Given the description of an element on the screen output the (x, y) to click on. 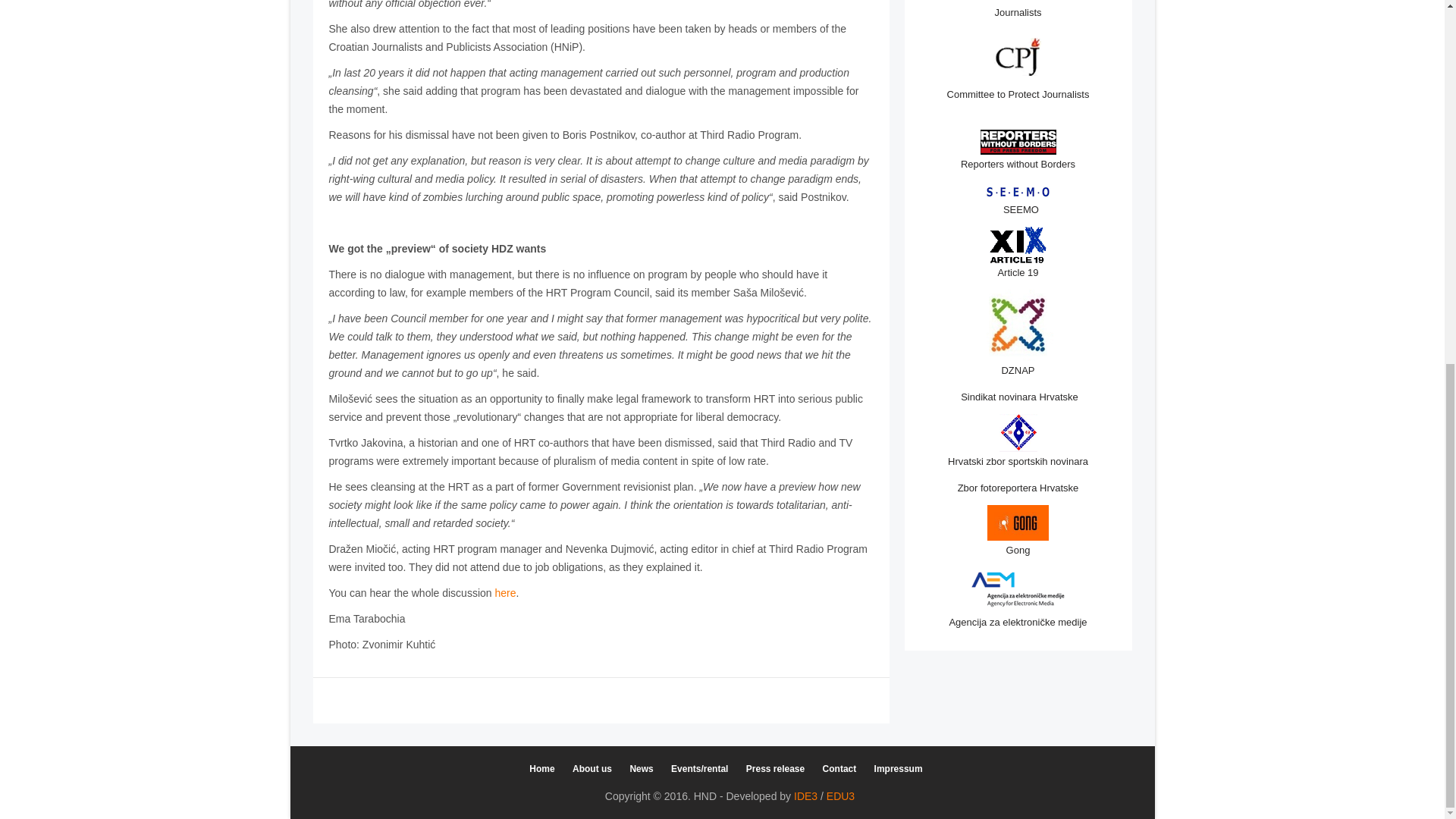
Journalists (1017, 12)
Committee to Protect Journalists (1018, 93)
Reporters without Borders (1017, 163)
here (505, 592)
